Given the description of an element on the screen output the (x, y) to click on. 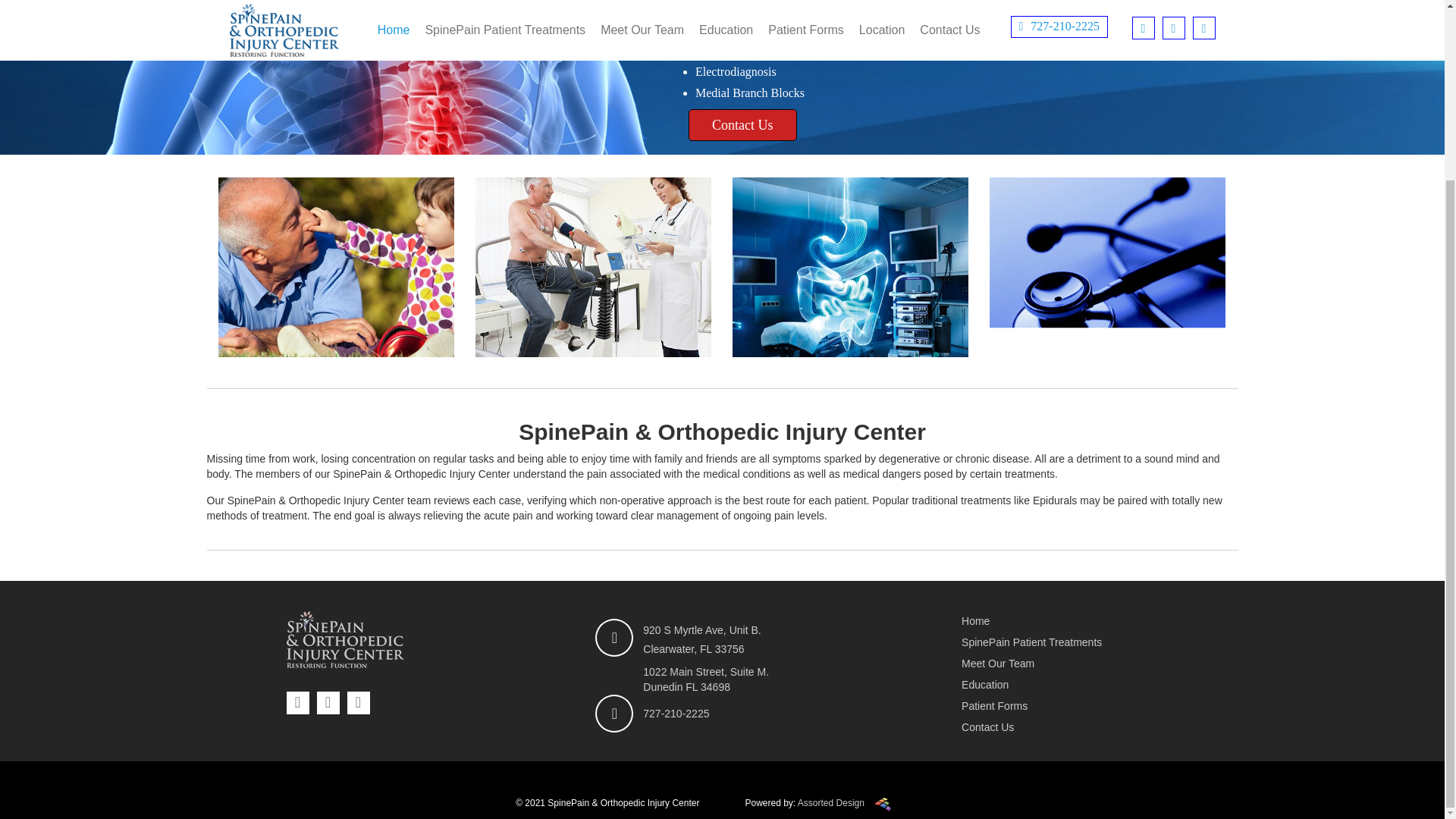
727-210-2225 (676, 713)
920 S Myrtle Ave, Unit B. (701, 630)
SpinePain Patient Treatments (1060, 642)
Dunedin FL 34698 (686, 686)
Contact Us (742, 124)
1022 Main Street, Suite M. (705, 671)
Home (1060, 621)
Clearwater, FL 33756 (693, 648)
